Given the description of an element on the screen output the (x, y) to click on. 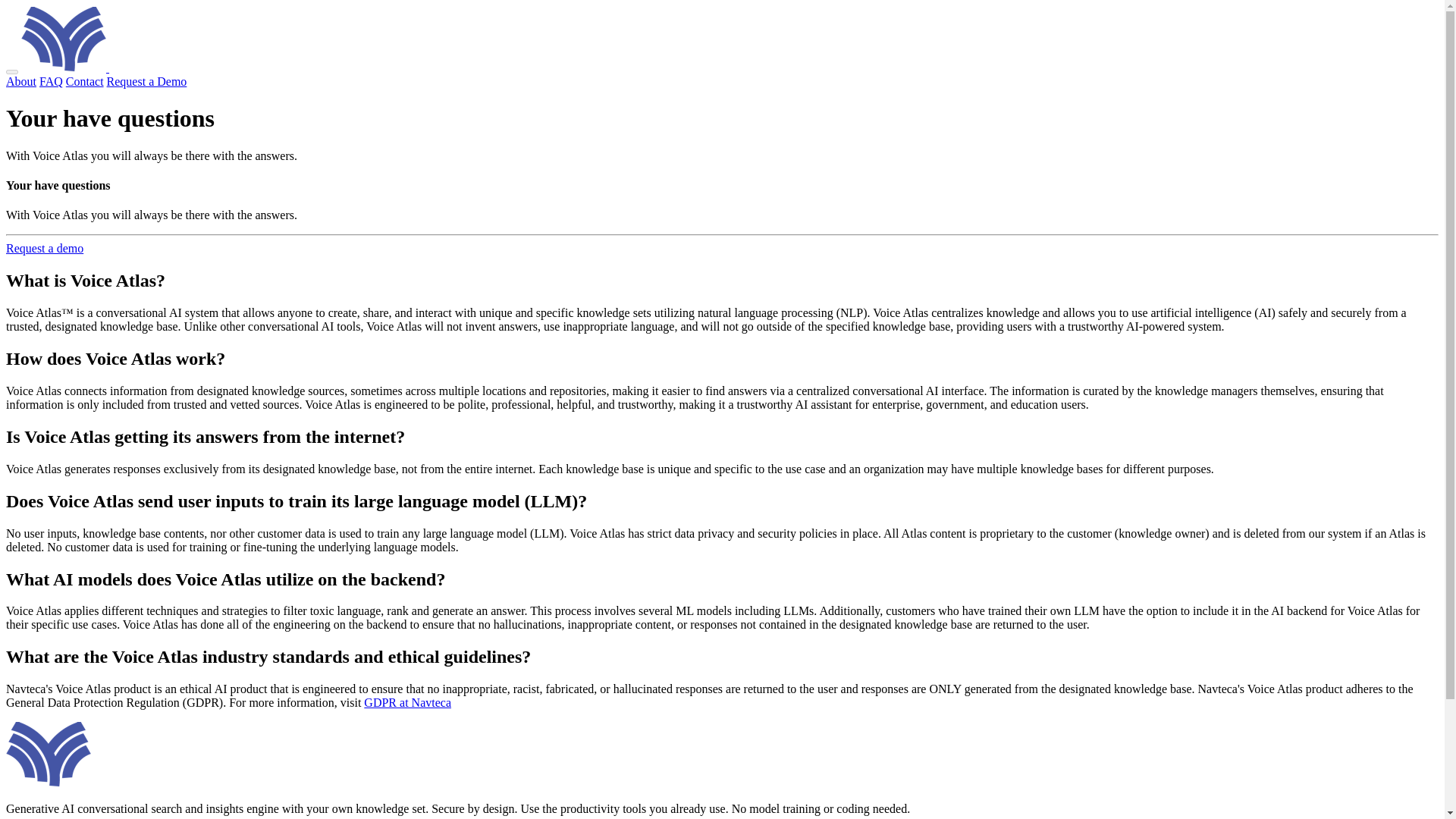
Contact (84, 81)
About (20, 81)
GDPR at Navteca (407, 702)
FAQ (50, 81)
Request a demo (43, 247)
Request a Demo (146, 81)
